Given the description of an element on the screen output the (x, y) to click on. 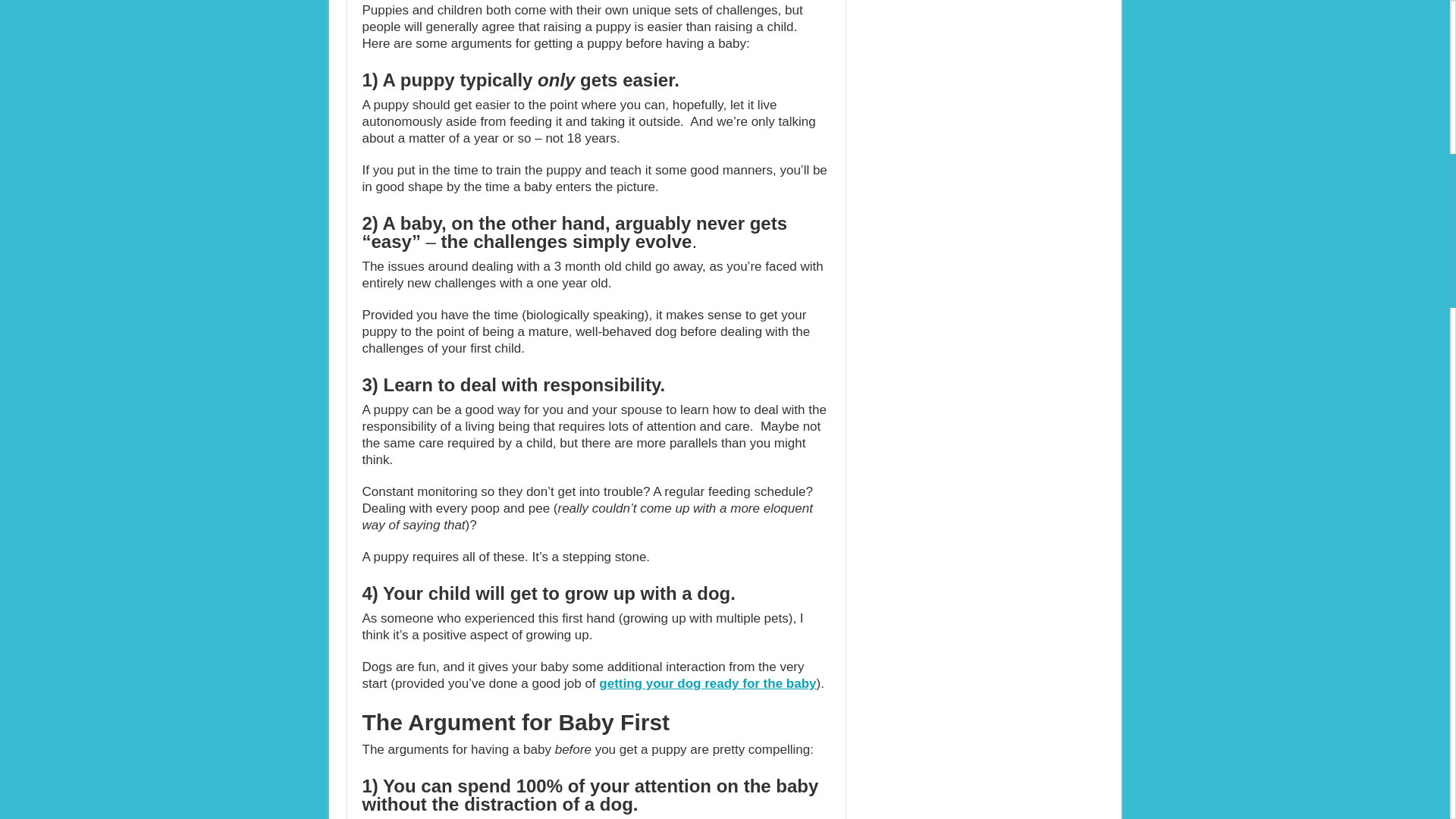
getting your dog ready for the baby (706, 683)
